Given the description of an element on the screen output the (x, y) to click on. 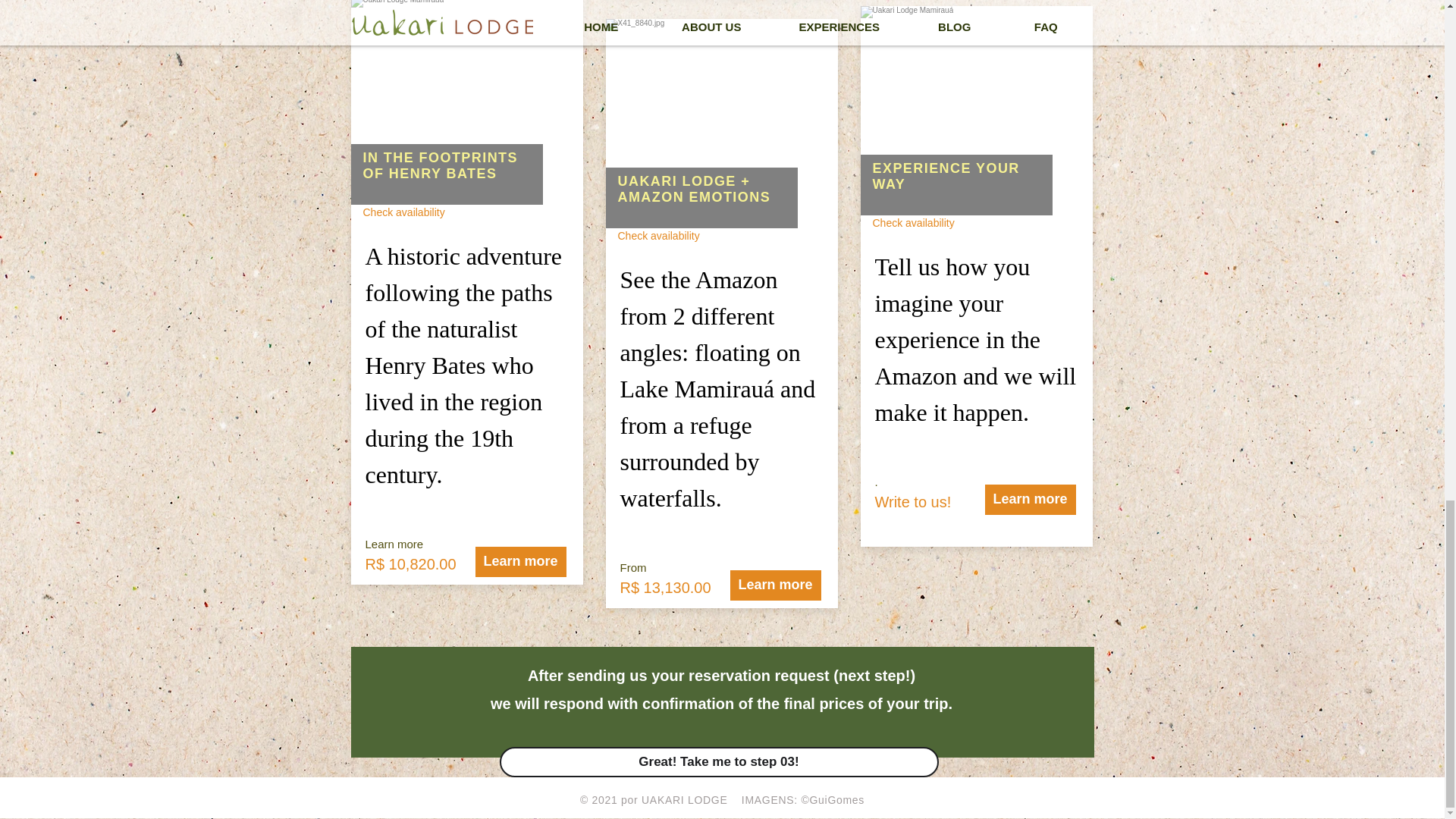
Great! Take me to step 03! (718, 761)
Learn more (775, 585)
Learn more (520, 562)
Learn more (1029, 499)
